Given the description of an element on the screen output the (x, y) to click on. 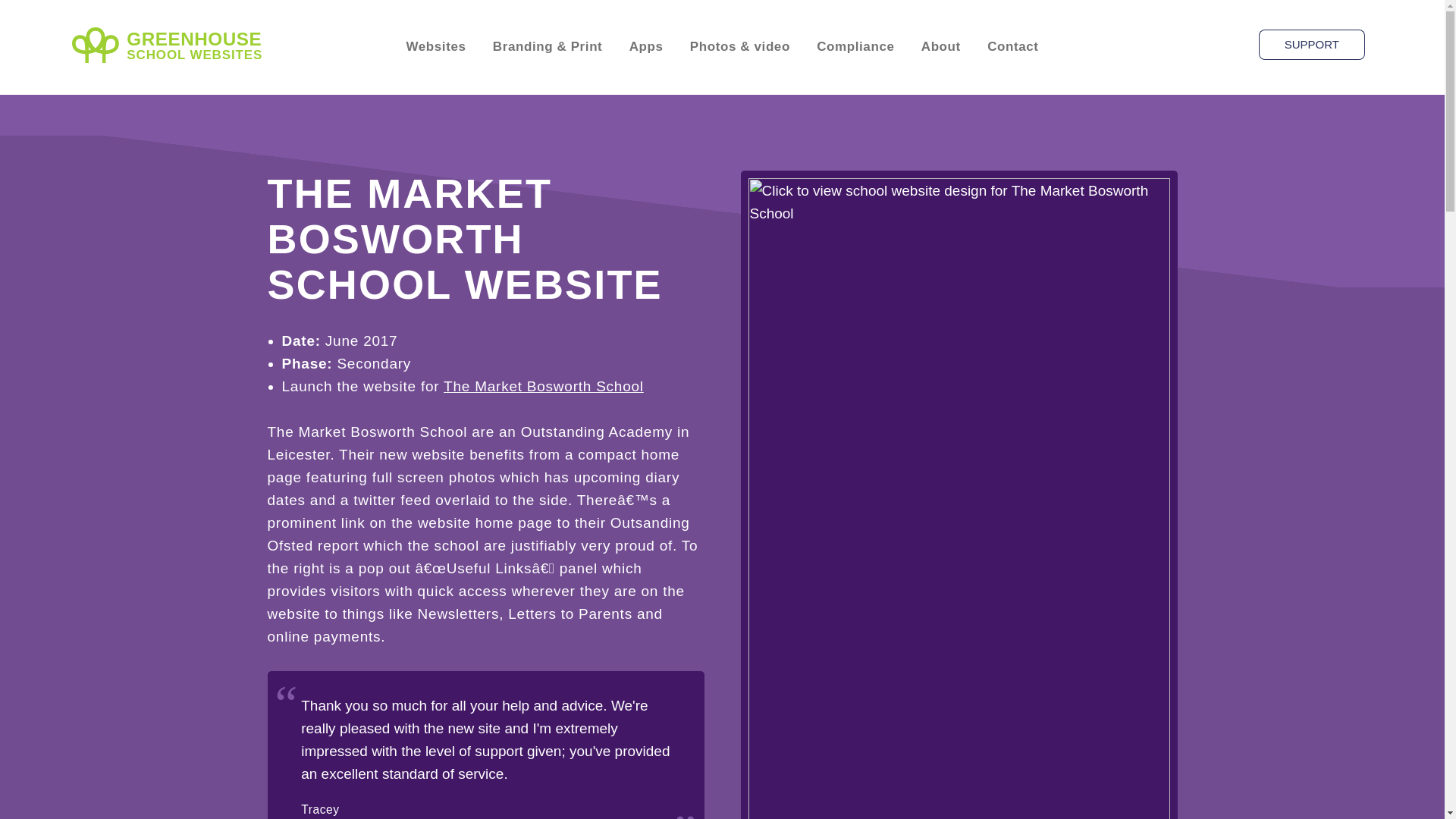
SUPPORT (1312, 44)
Apps (646, 47)
Get website support (1312, 44)
Websites (435, 47)
